Given the description of an element on the screen output the (x, y) to click on. 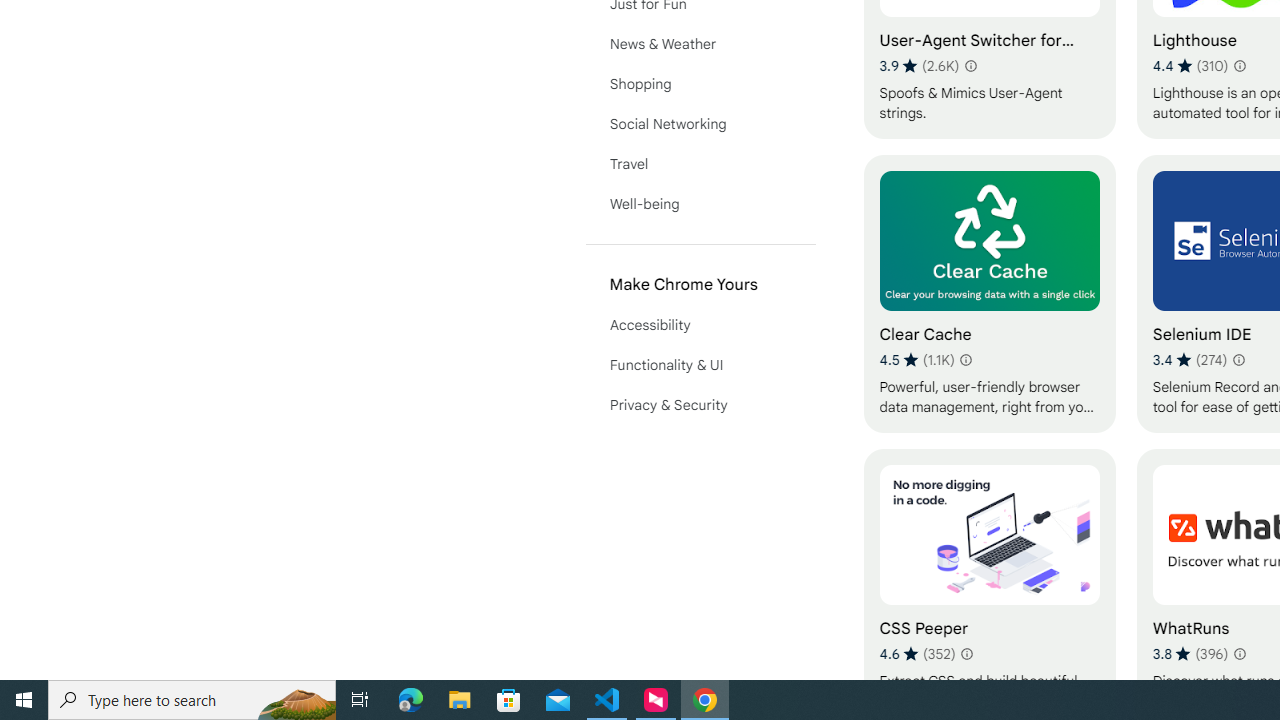
Functionality & UI (700, 364)
Average rating 3.8 out of 5 stars. 396 ratings. (1190, 653)
Average rating 4.4 out of 5 stars. 310 ratings. (1190, 66)
Average rating 4.5 out of 5 stars. 1.1K ratings. (916, 359)
Social Networking (700, 123)
Clear Cache (989, 293)
Well-being (700, 203)
Shopping (700, 83)
Learn more about results and reviews "Selenium IDE" (1238, 359)
Average rating 3.9 out of 5 stars. 2.6K ratings. (919, 66)
Privacy & Security (700, 404)
Learn more about results and reviews "CSS Peeper" (966, 654)
Learn more about results and reviews "Lighthouse" (1239, 65)
Learn more about results and reviews "WhatRuns" (1239, 654)
Average rating 4.6 out of 5 stars. 352 ratings. (917, 653)
